Given the description of an element on the screen output the (x, y) to click on. 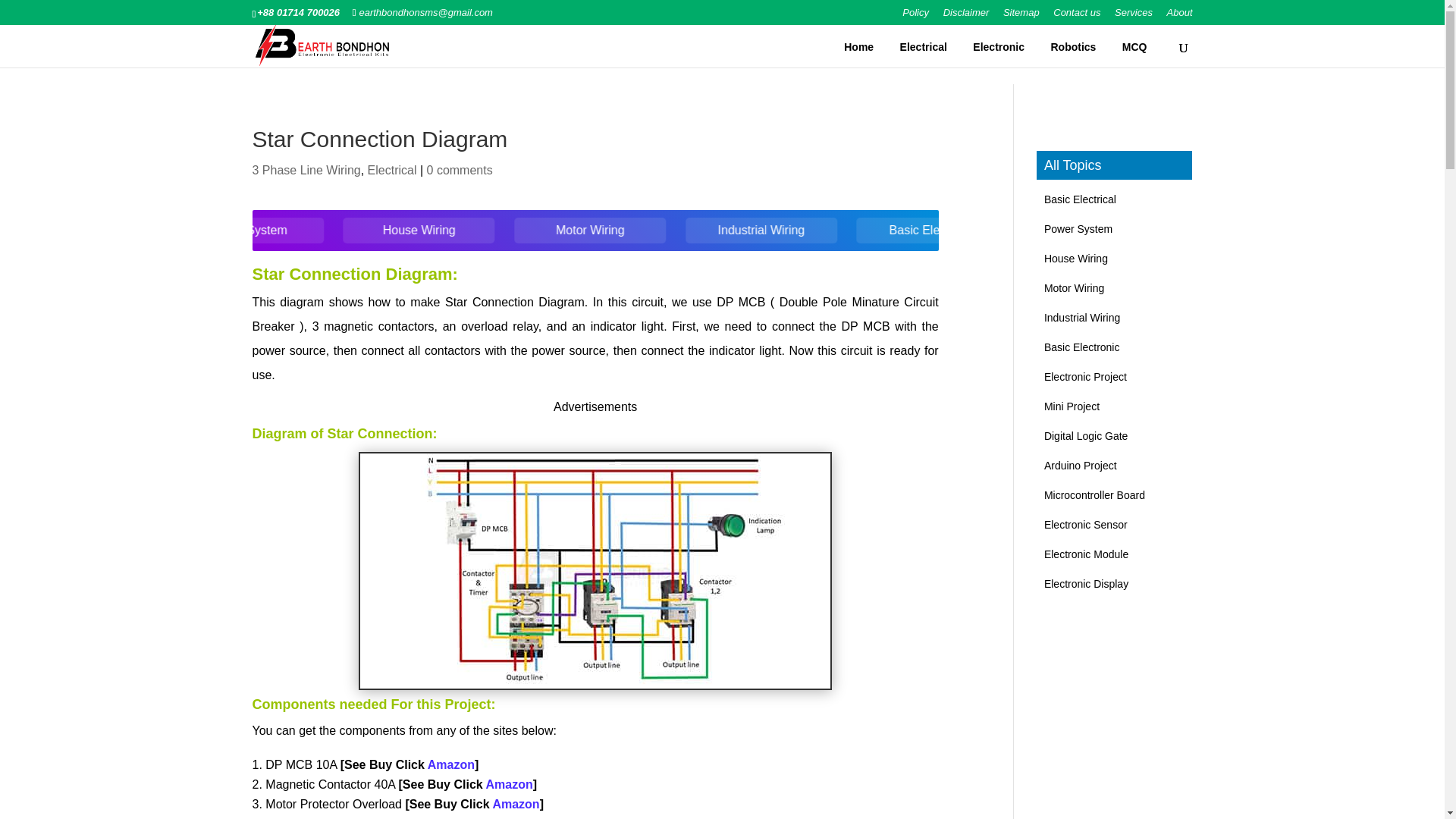
Home (857, 46)
About (1179, 16)
Robotics (1072, 46)
Electrical (923, 46)
Services (1134, 16)
Electronic (998, 46)
Basic Electrical (234, 230)
Star Connection Diagram (594, 687)
3 Phase Line Wiring (305, 169)
Power System (403, 230)
